Given the description of an element on the screen output the (x, y) to click on. 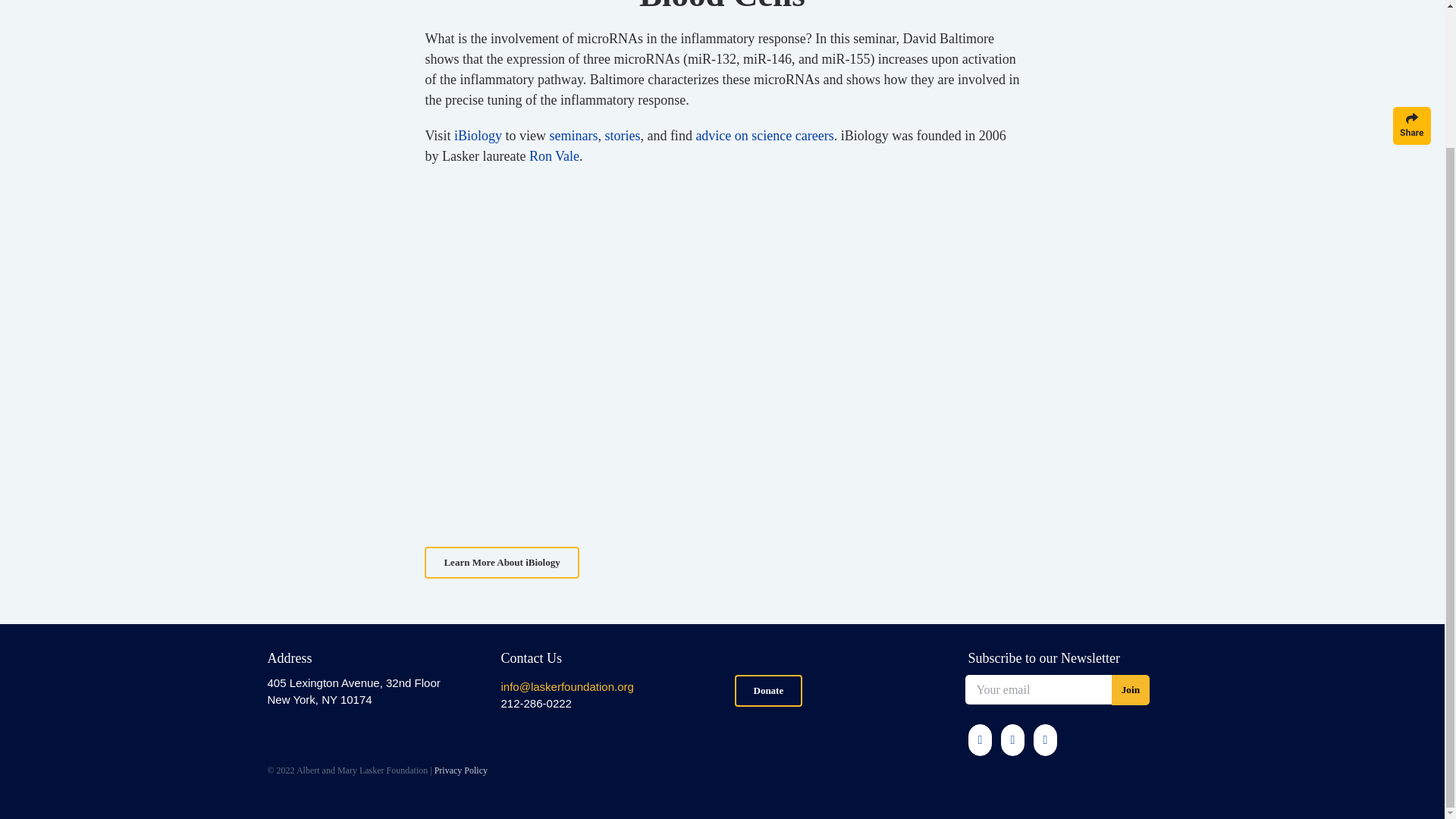
Join (1131, 689)
Your email (1036, 689)
